Given the description of an element on the screen output the (x, y) to click on. 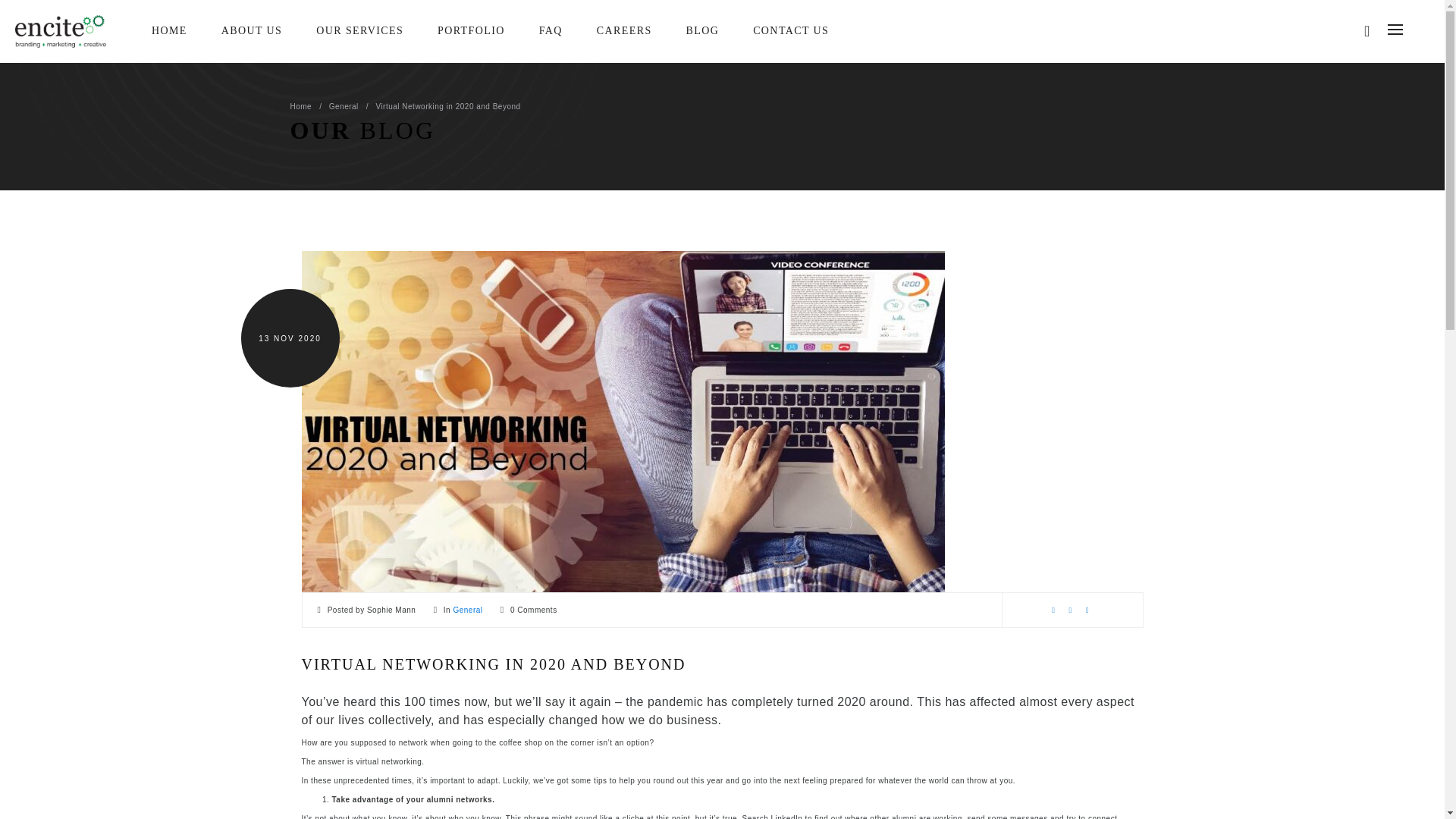
ABOUT US (251, 30)
HOME (169, 30)
OUR SERVICES (359, 30)
